Given the description of an element on the screen output the (x, y) to click on. 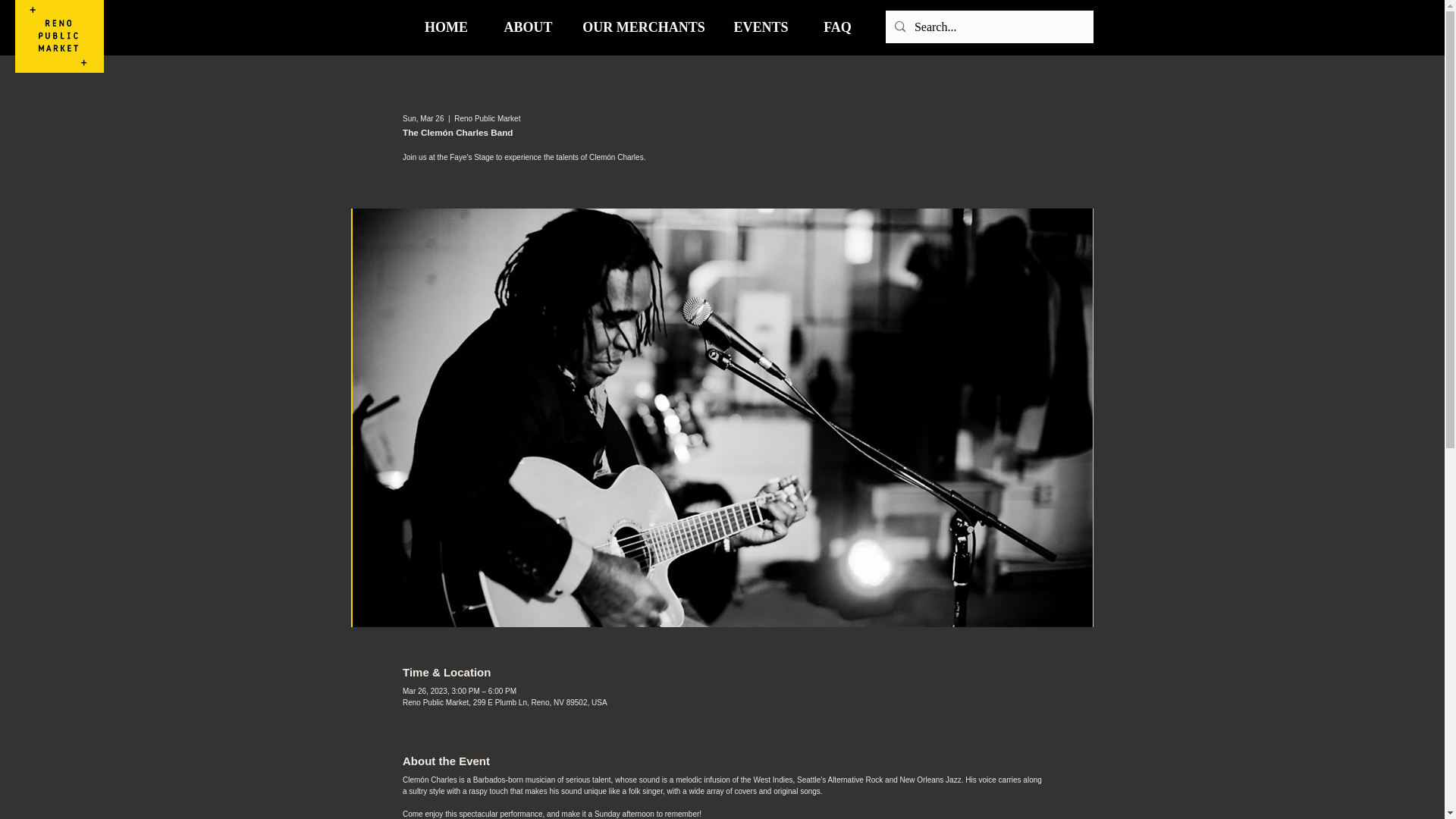
CONTACT (919, 26)
ABOUT (527, 26)
OUR MERCHANTS (643, 26)
FAQ (837, 26)
Blog (1002, 26)
HOME (445, 26)
